Given the description of an element on the screen output the (x, y) to click on. 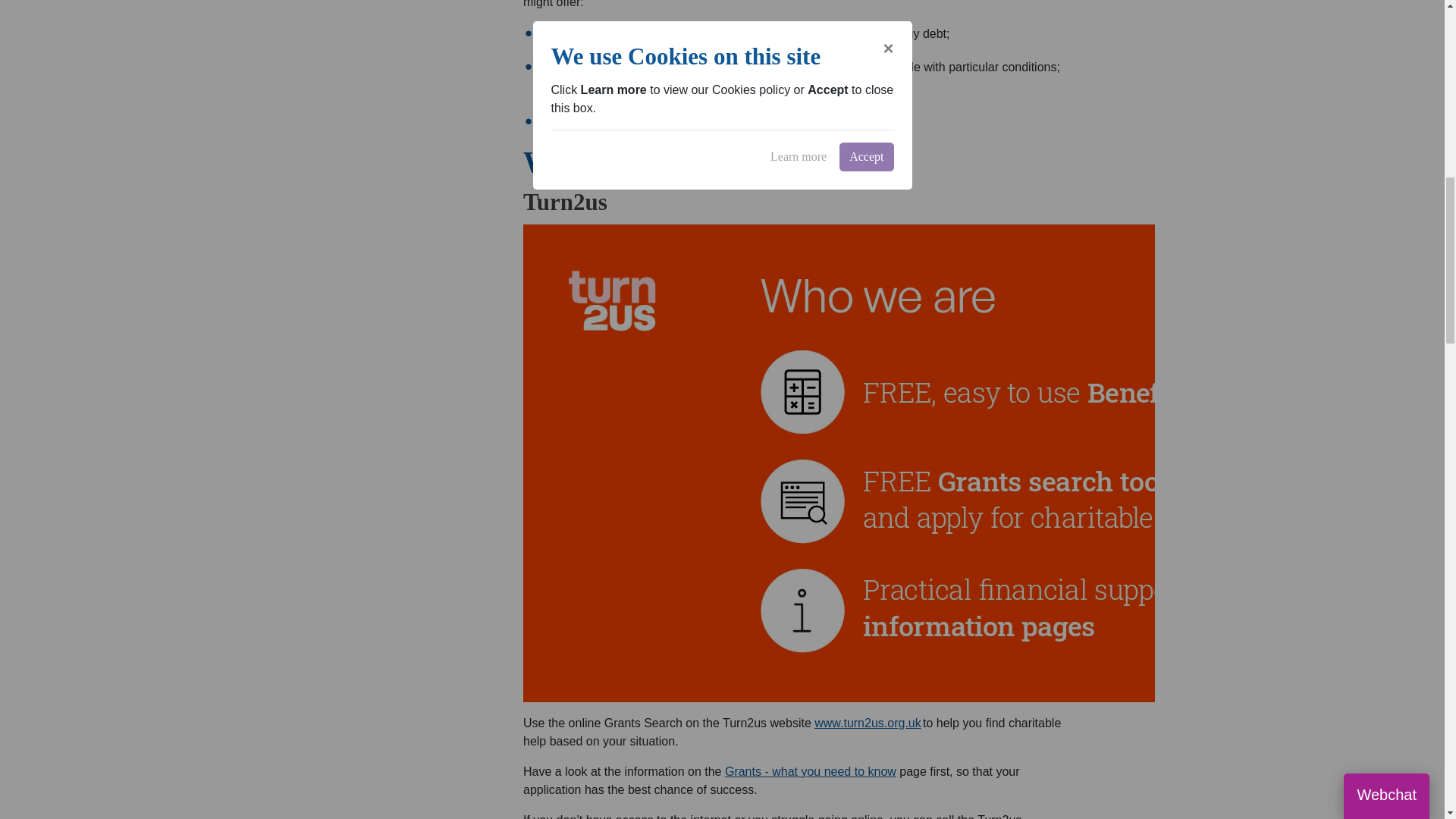
Grants - what you need to know (810, 771)
www.turn2us.org.uk (867, 722)
